Given the description of an element on the screen output the (x, y) to click on. 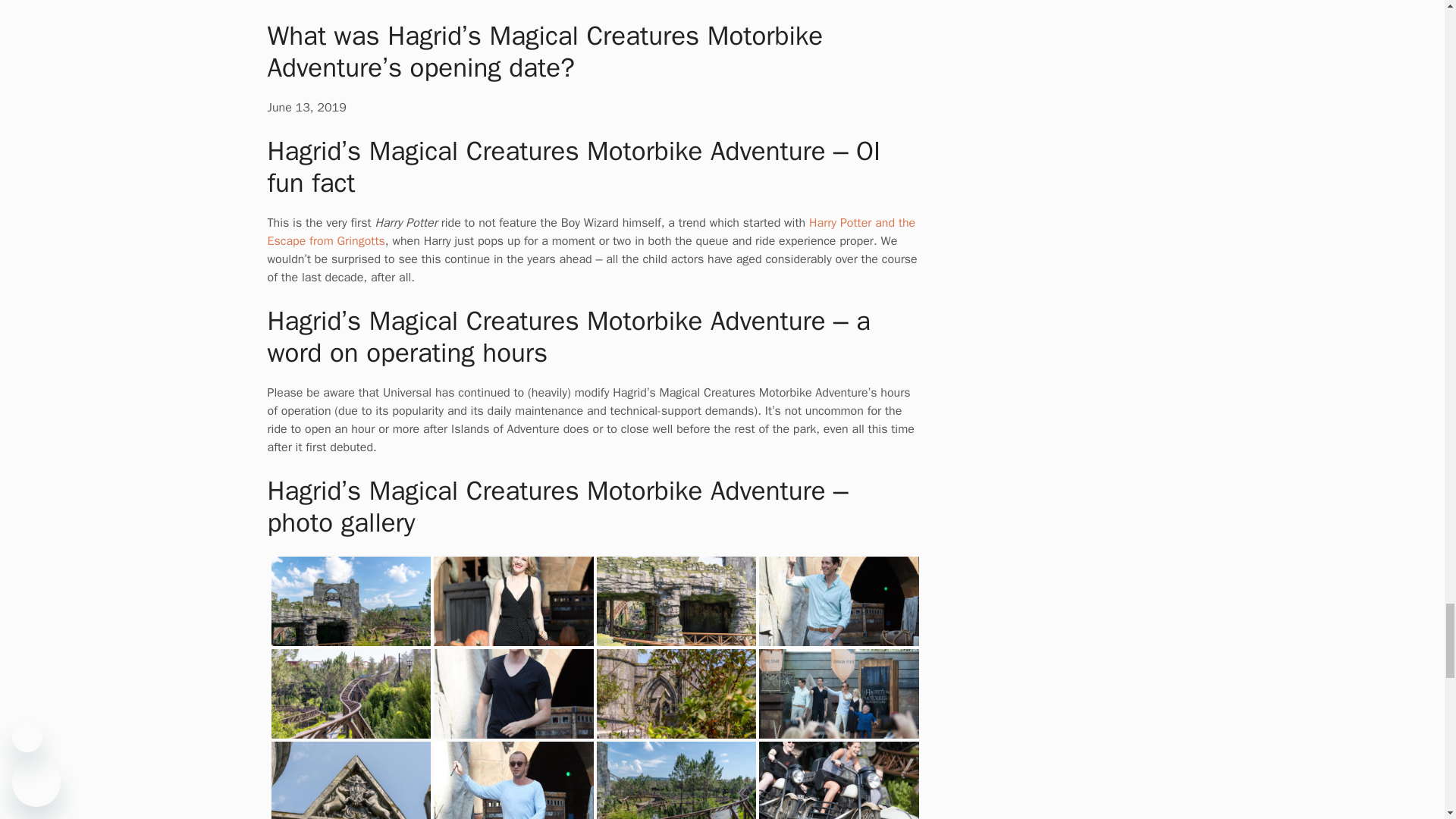
Hagrid's Magical Creatures Motorbike Adventure (838, 696)
Hagrid's Magical Creatures Motorbike Adventure (838, 773)
Hagrid's Magical Creatures Motorbike Adventure (675, 604)
Hagrid's Magical Creatures Motorbike Adventure (675, 775)
Hagrid's Magical Creatures Motorbike Adventure (350, 775)
Hagrid's Magical Creatures Motorbike Adventure (675, 696)
Hagrid's Magical Creatures Motorbike Adventure (350, 696)
Hagrid's Magical Creatures Motorbike Adventure (513, 739)
Hagrid's Magical Creatures Motorbike Adventure (350, 604)
